Given the description of an element on the screen output the (x, y) to click on. 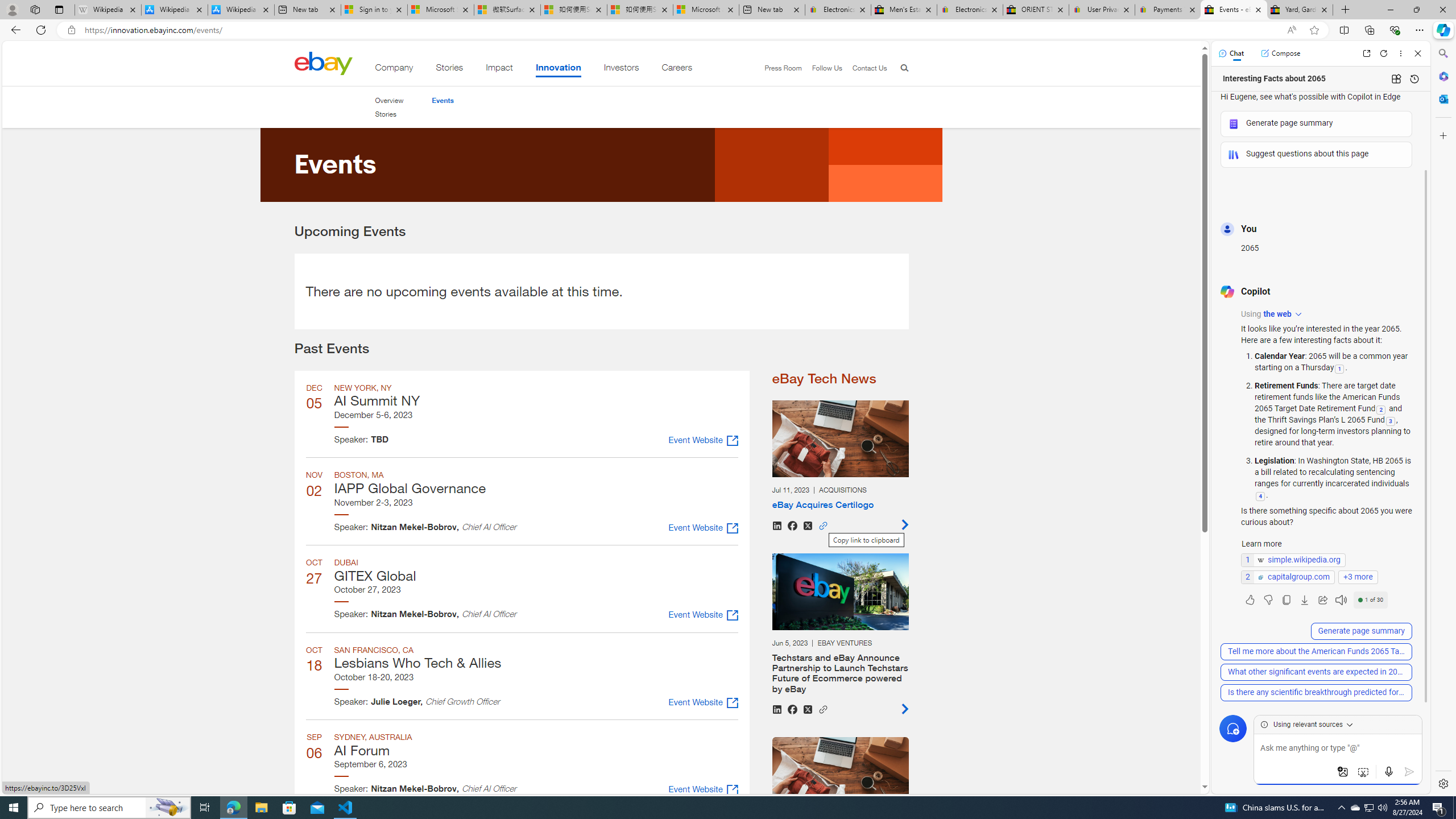
Company (393, 69)
Stories (385, 113)
Copy link to clipboard (823, 707)
Yard, Garden & Outdoor Living (1300, 9)
Careers (677, 69)
Events (442, 100)
Company (393, 69)
Payments Terms of Use | eBay.com (1167, 9)
